Given the description of an element on the screen output the (x, y) to click on. 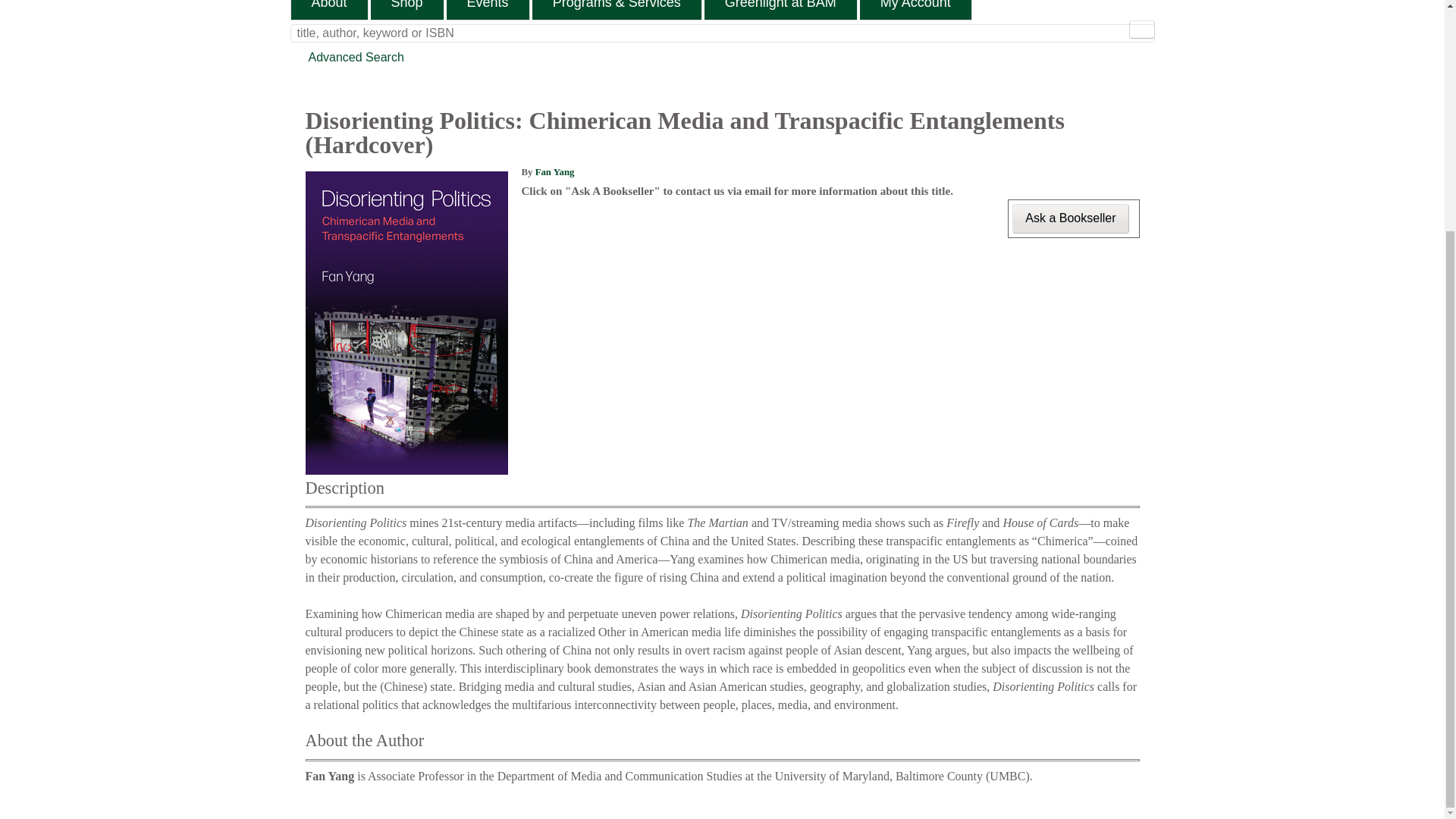
Search (1141, 29)
Ask a Bookseller (1069, 218)
Shop (407, 9)
About (329, 9)
